Given the description of an element on the screen output the (x, y) to click on. 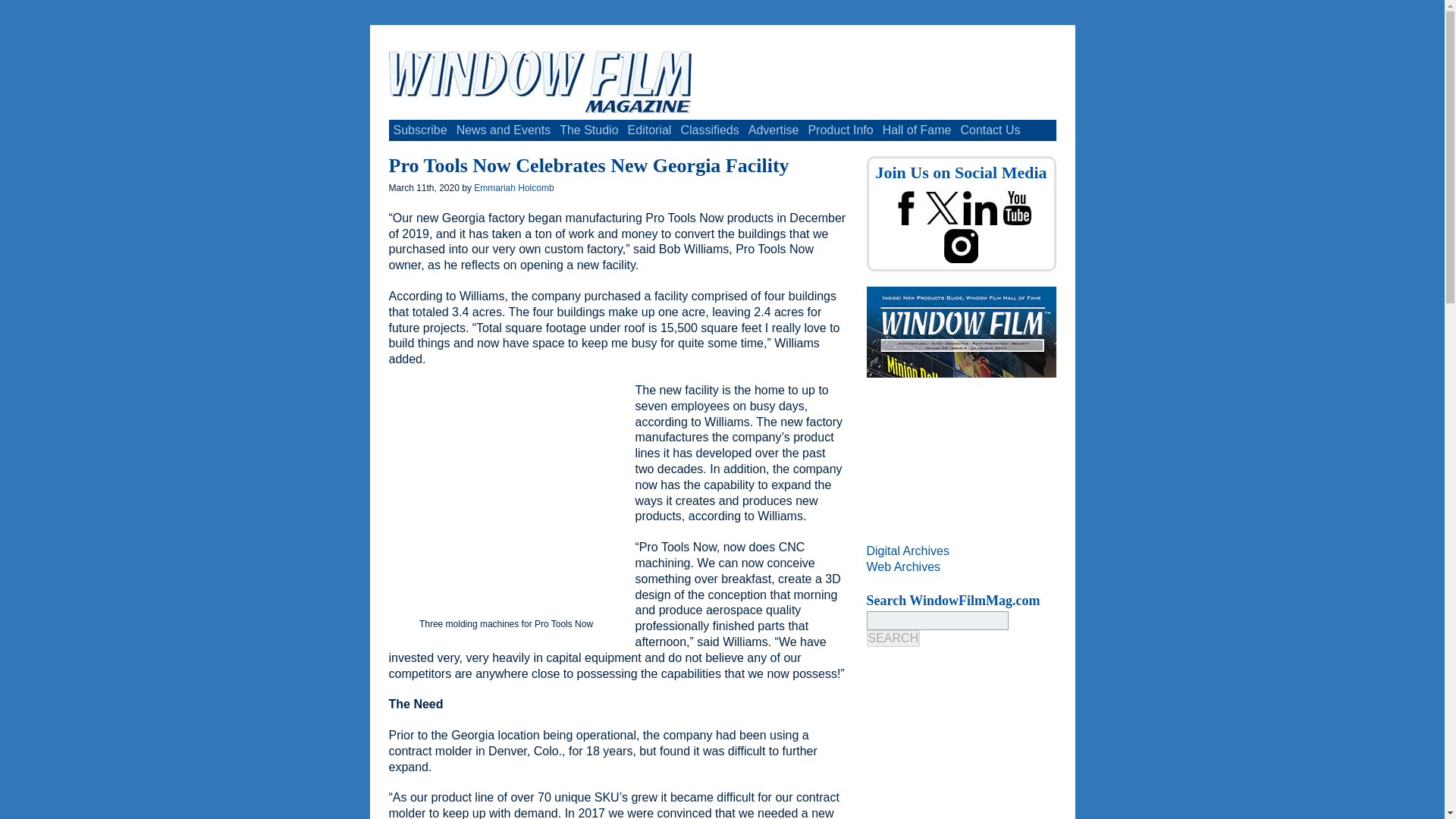
SEARCH (893, 638)
Advertise (773, 129)
Contact Us (990, 129)
Hall of Fame (916, 129)
Emmariah Holcomb (513, 187)
The Studio (588, 129)
Product Info (840, 129)
Editorial (650, 129)
News and Events (503, 129)
Subscribe (419, 129)
